Given the description of an element on the screen output the (x, y) to click on. 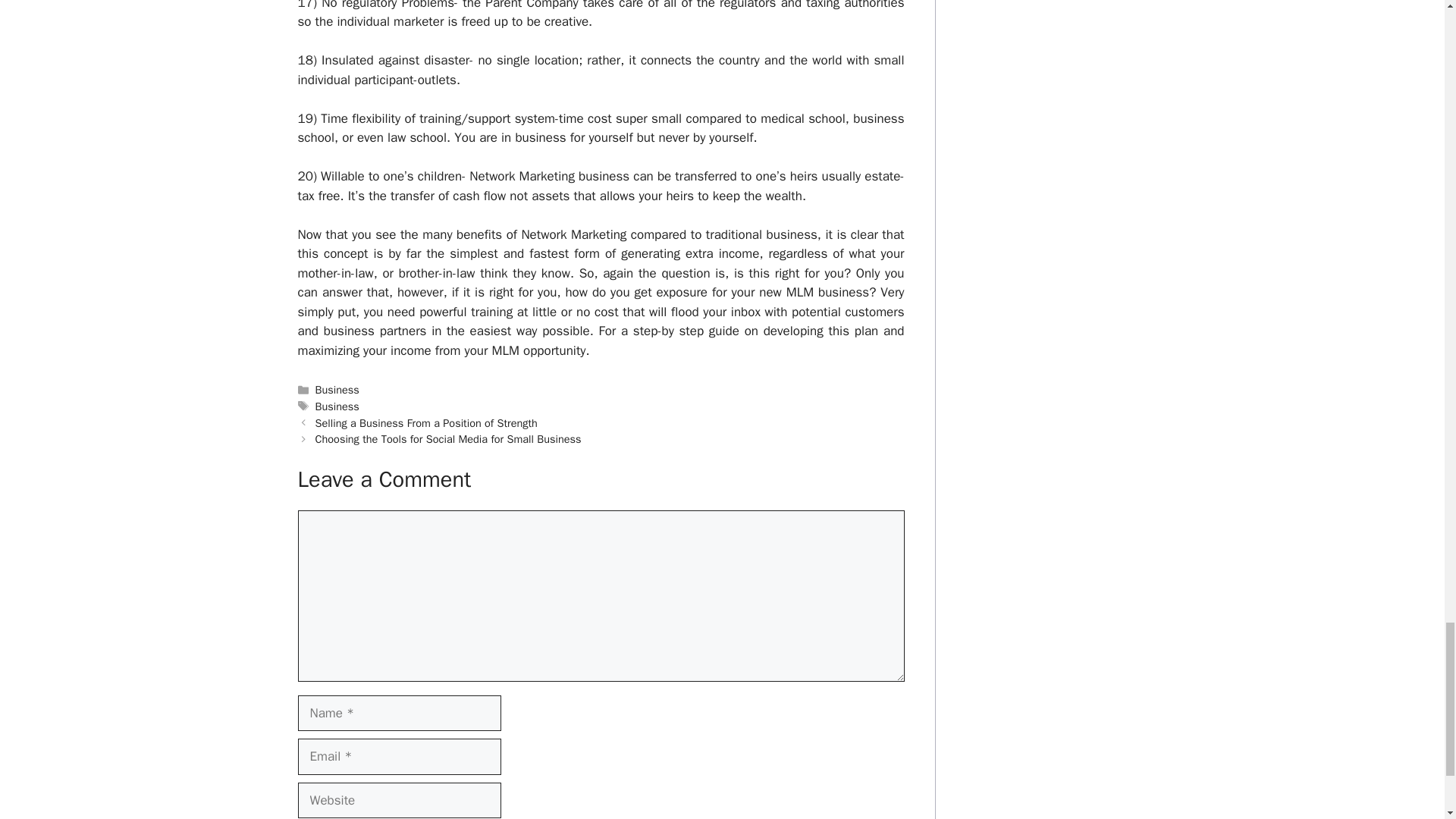
Business (337, 406)
Selling a Business From a Position of Strength (426, 422)
Choosing the Tools for Social Media for Small Business (447, 438)
Business (337, 389)
